Given the description of an element on the screen output the (x, y) to click on. 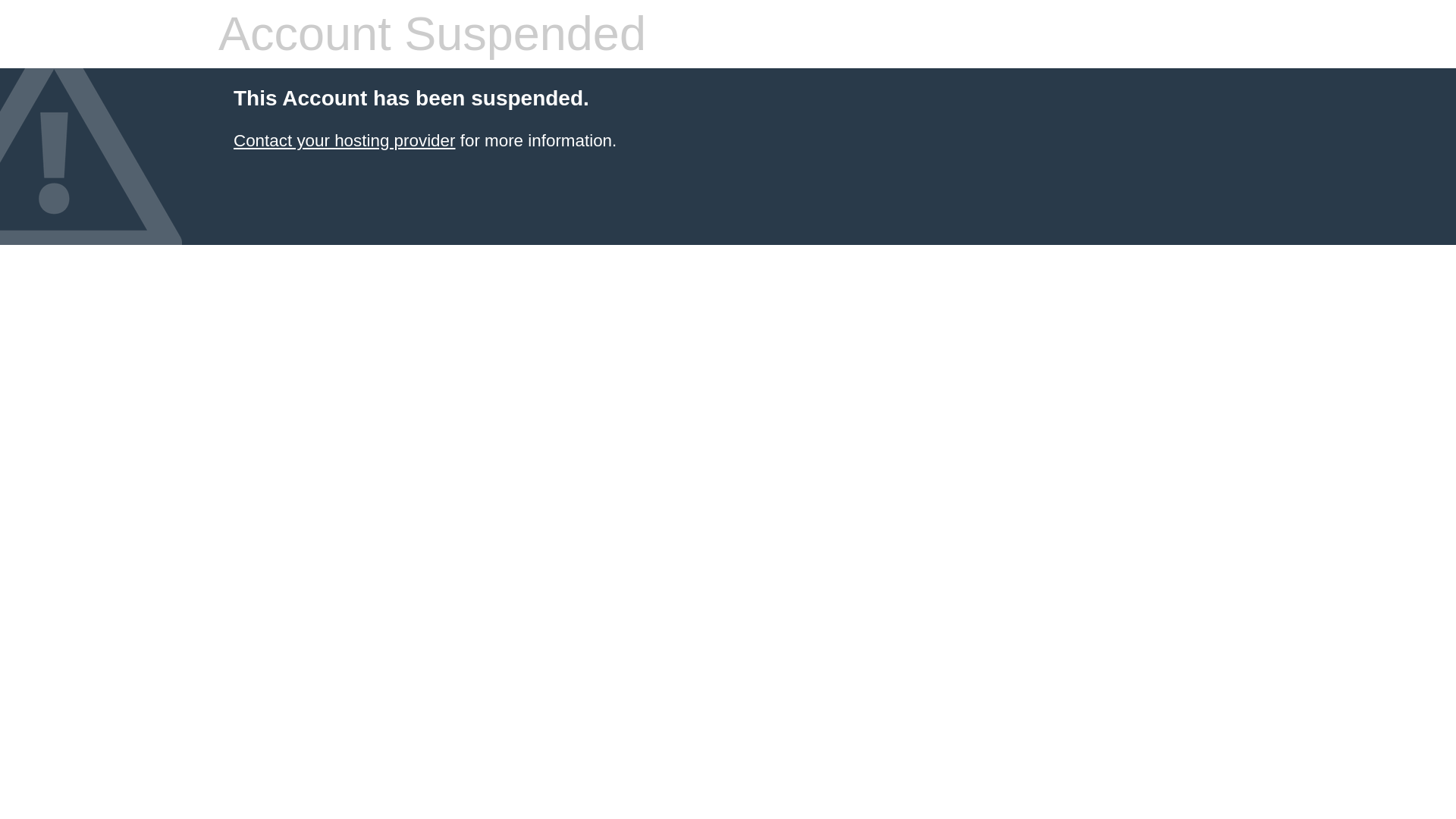
Contact your hosting provider (343, 140)
